Given the description of an element on the screen output the (x, y) to click on. 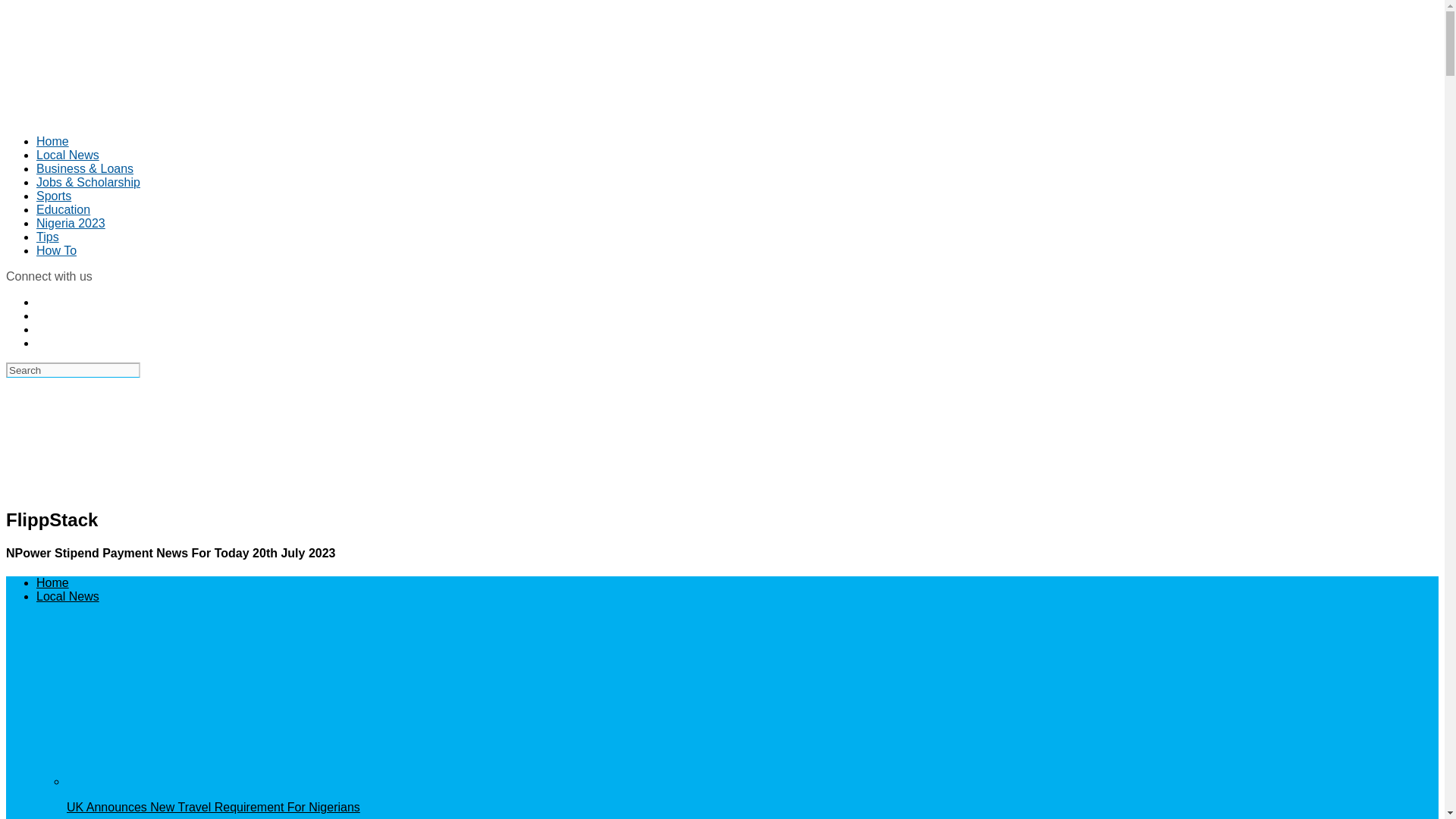
Nigeria 2023 (70, 223)
Search (72, 369)
Home (52, 141)
How To (56, 250)
Education (63, 209)
Home (52, 582)
Local News (67, 595)
Local News (67, 154)
Sports (53, 195)
Tips (47, 236)
